Given the description of an element on the screen output the (x, y) to click on. 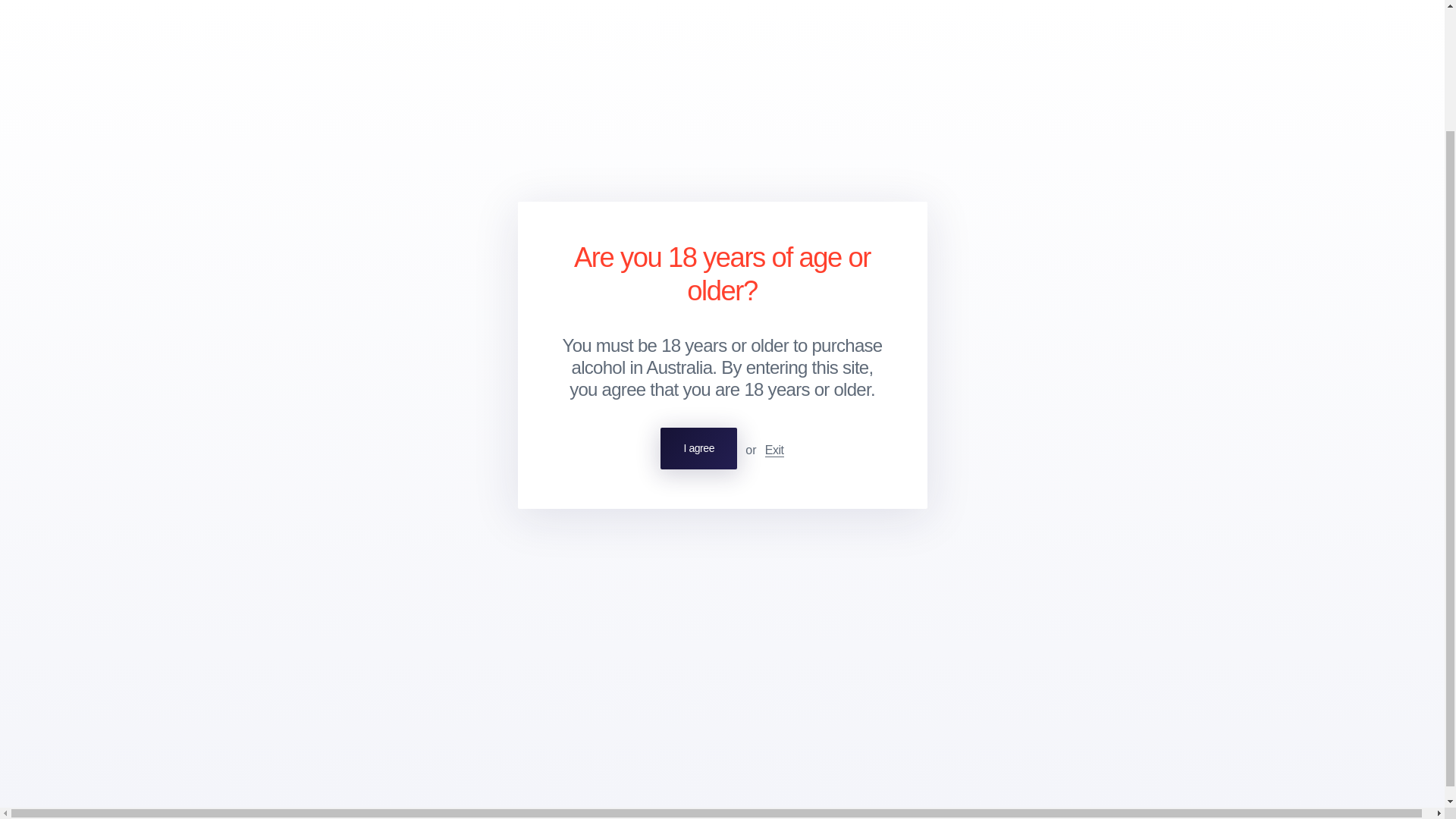
Clos Bateau (334, 501)
Tasting notes (369, 199)
Wine details (289, 199)
- (274, 380)
Sold out (472, 380)
I agree (698, 300)
CLOS BATEAU (291, 115)
1 (316, 380)
Exit (774, 301)
